Given the description of an element on the screen output the (x, y) to click on. 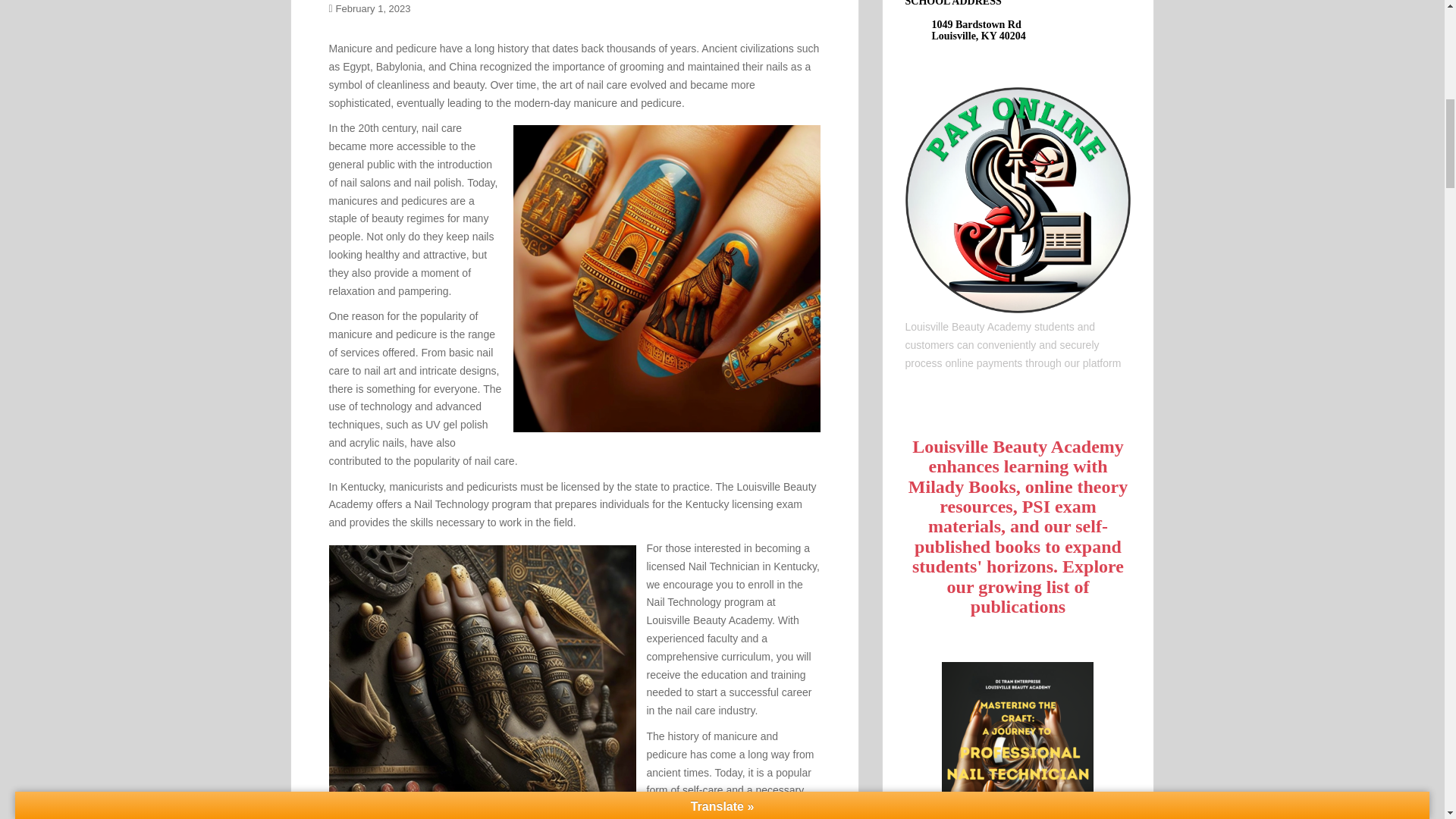
February 1, 2023 (373, 8)
